Given the description of an element on the screen output the (x, y) to click on. 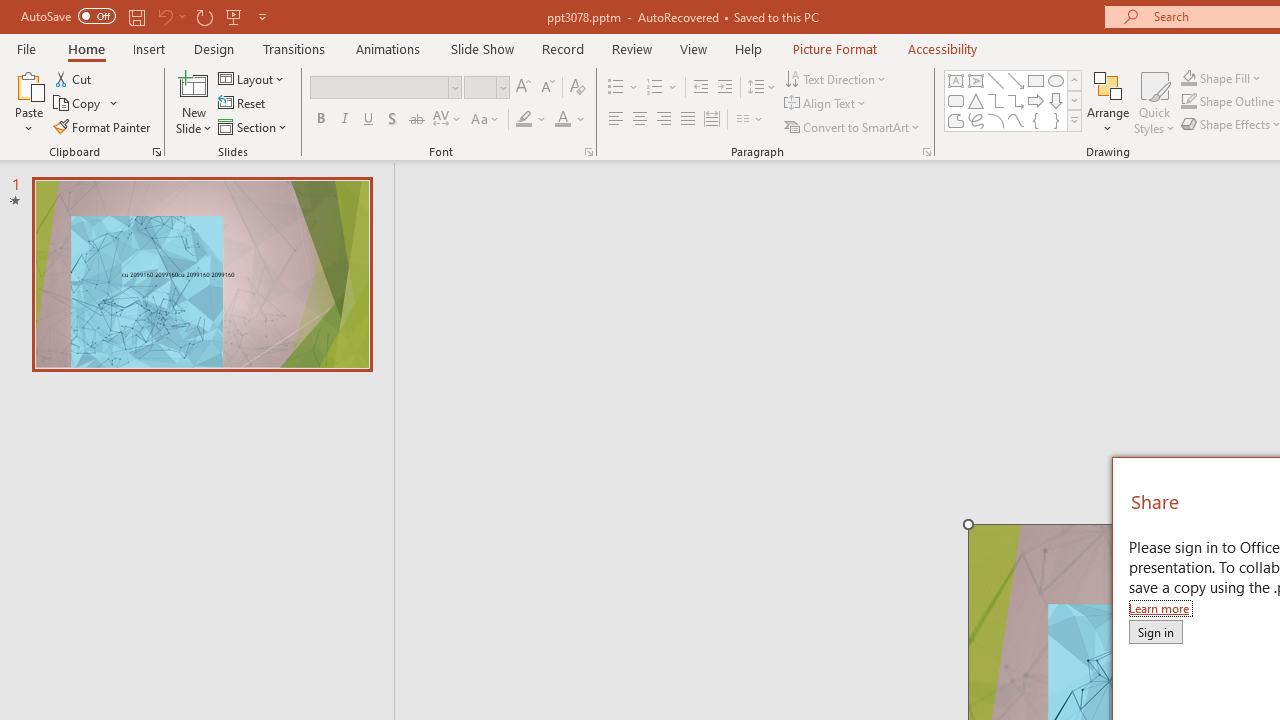
Picture Format (834, 48)
